Given the description of an element on the screen output the (x, y) to click on. 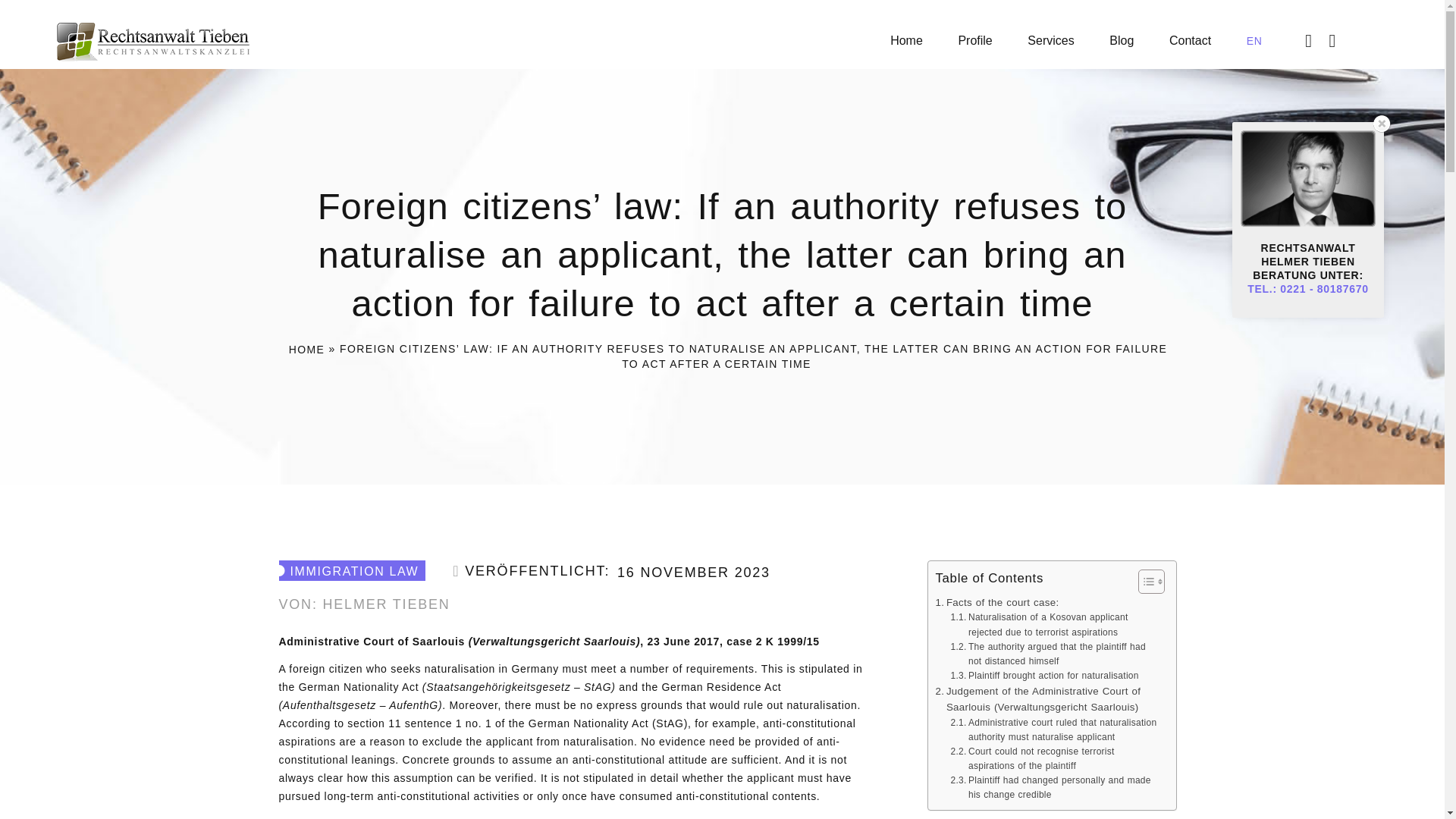
Services (1050, 40)
Facts of the court case: (997, 602)
Plaintiff brought action for naturalisation (1044, 676)
TEL.: 0221 - 80187670 (1307, 288)
IMMIGRATION LAW (352, 570)
HOME (306, 349)
Profile (974, 40)
Contact (1190, 40)
